Given the description of an element on the screen output the (x, y) to click on. 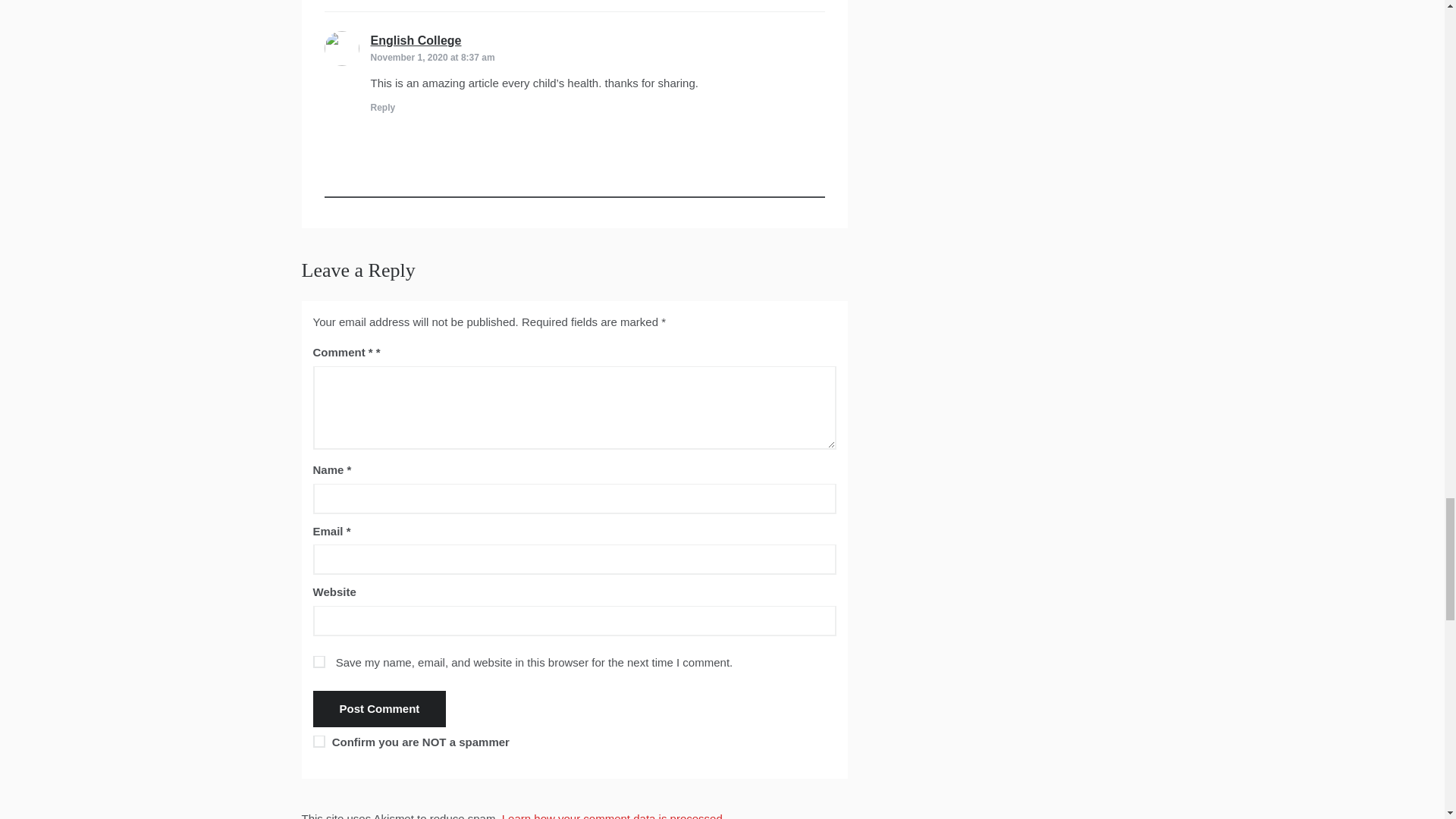
Post Comment (379, 709)
yes (318, 662)
on (318, 741)
